Given the description of an element on the screen output the (x, y) to click on. 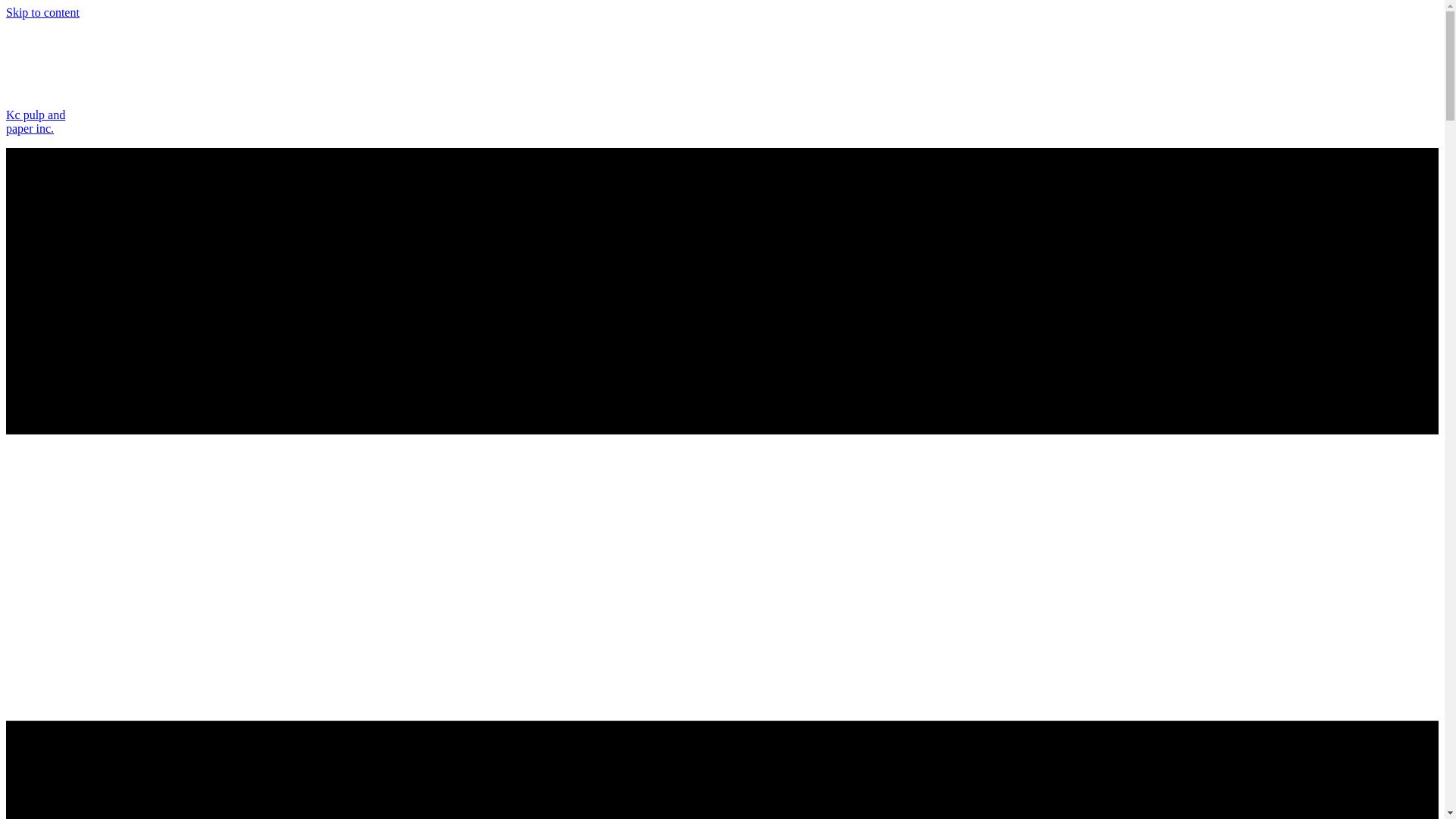
Skip to content (35, 121)
Kc pulp and paper inc. (42, 11)
